Given the description of an element on the screen output the (x, y) to click on. 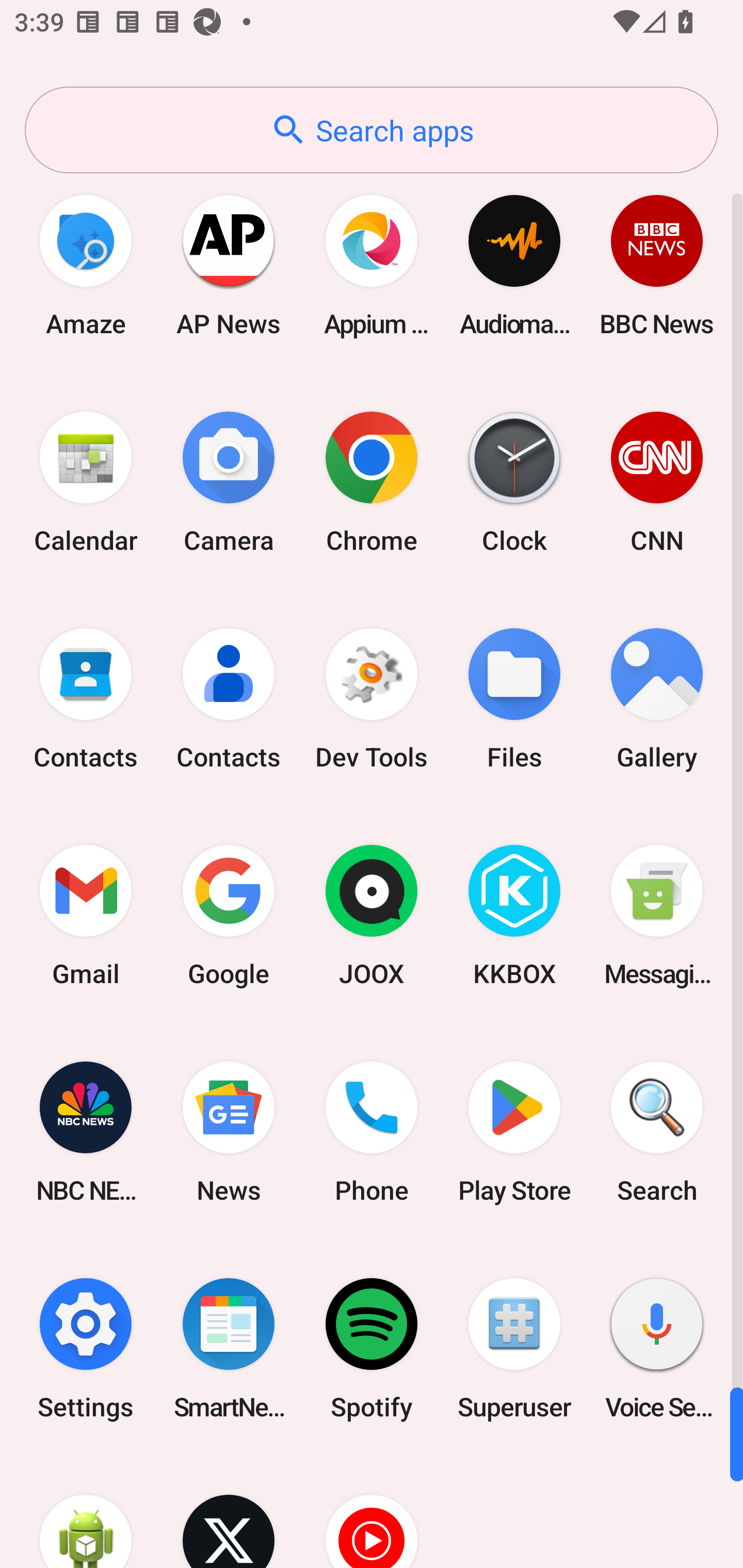
  Search apps (371, 130)
Amaze (85, 264)
AP News (228, 264)
Appium Settings (371, 264)
Audio­mack (514, 264)
BBC News (656, 264)
Calendar (85, 482)
Camera (228, 482)
Chrome (371, 482)
Clock (514, 482)
CNN (656, 482)
Contacts (85, 699)
Contacts (228, 699)
Dev Tools (371, 699)
Files (514, 699)
Gallery (656, 699)
Gmail (85, 915)
Google (228, 915)
JOOX (371, 915)
KKBOX (514, 915)
Messaging (656, 915)
NBC NEWS (85, 1131)
News (228, 1131)
Phone (371, 1131)
Play Store (514, 1131)
Search (656, 1131)
Settings (85, 1348)
SmartNews (228, 1348)
Spotify (371, 1348)
Superuser (514, 1348)
Voice Search (656, 1348)
WebView Browser Tester (85, 1512)
X (228, 1512)
YT Music (371, 1512)
